Given the description of an element on the screen output the (x, y) to click on. 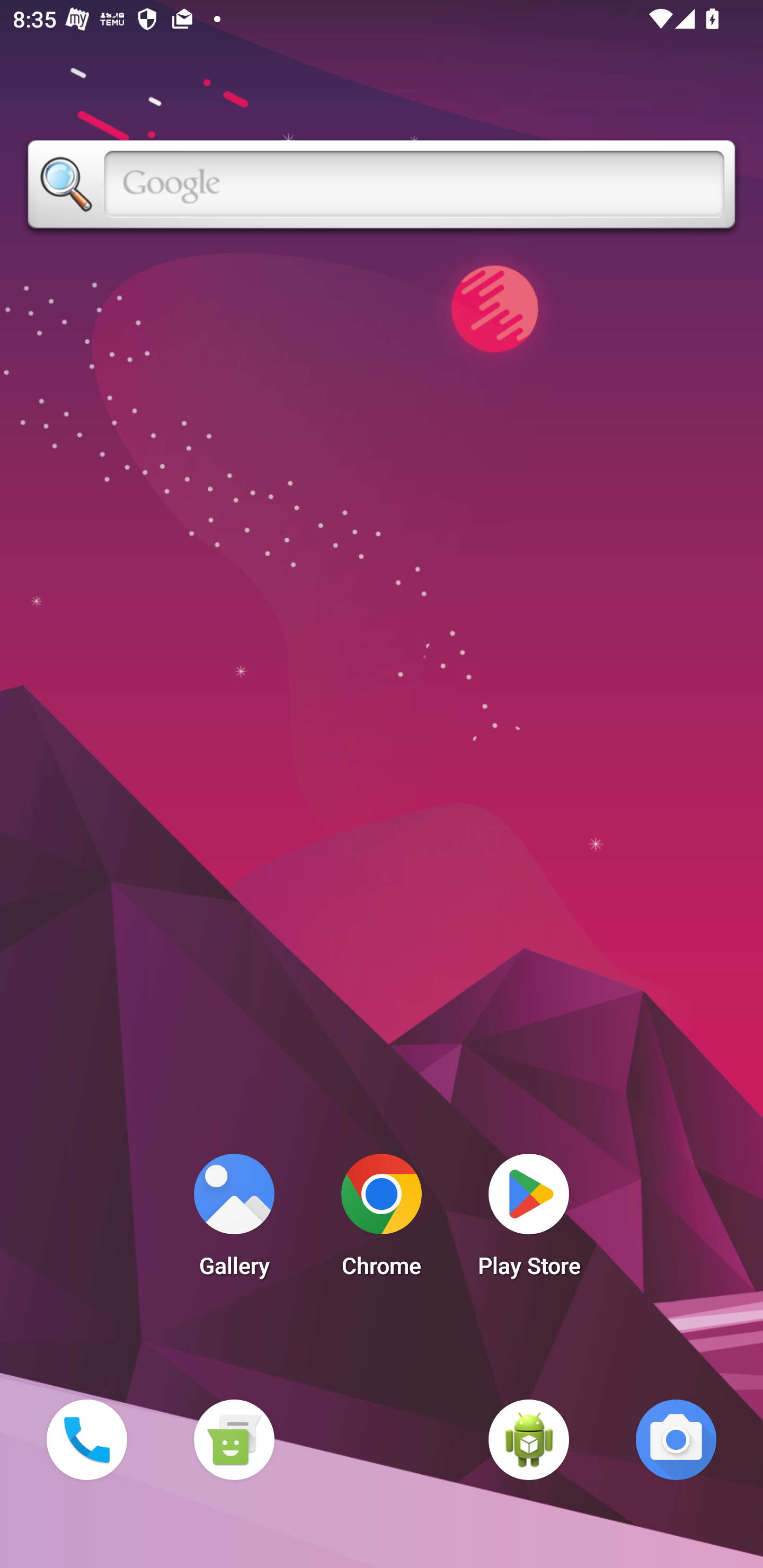
Gallery (233, 1220)
Chrome (381, 1220)
Play Store (528, 1220)
Phone (86, 1439)
Messaging (233, 1439)
WebView Browser Tester (528, 1439)
Camera (676, 1439)
